Given the description of an element on the screen output the (x, y) to click on. 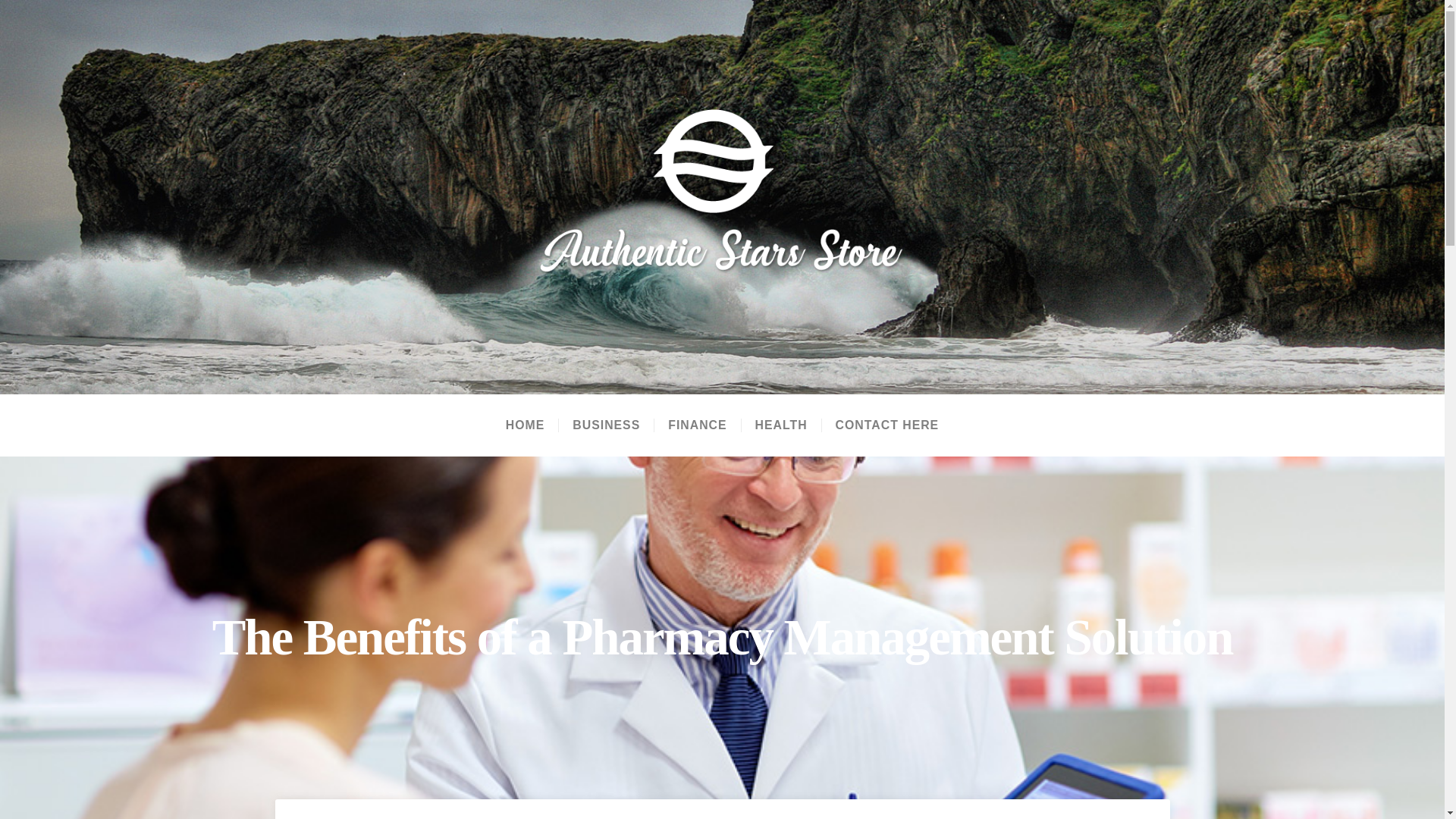
FINANCE (696, 425)
HOME (525, 425)
HEALTH (781, 425)
CONTACT HERE (887, 425)
BUSINESS (605, 425)
